Given the description of an element on the screen output the (x, y) to click on. 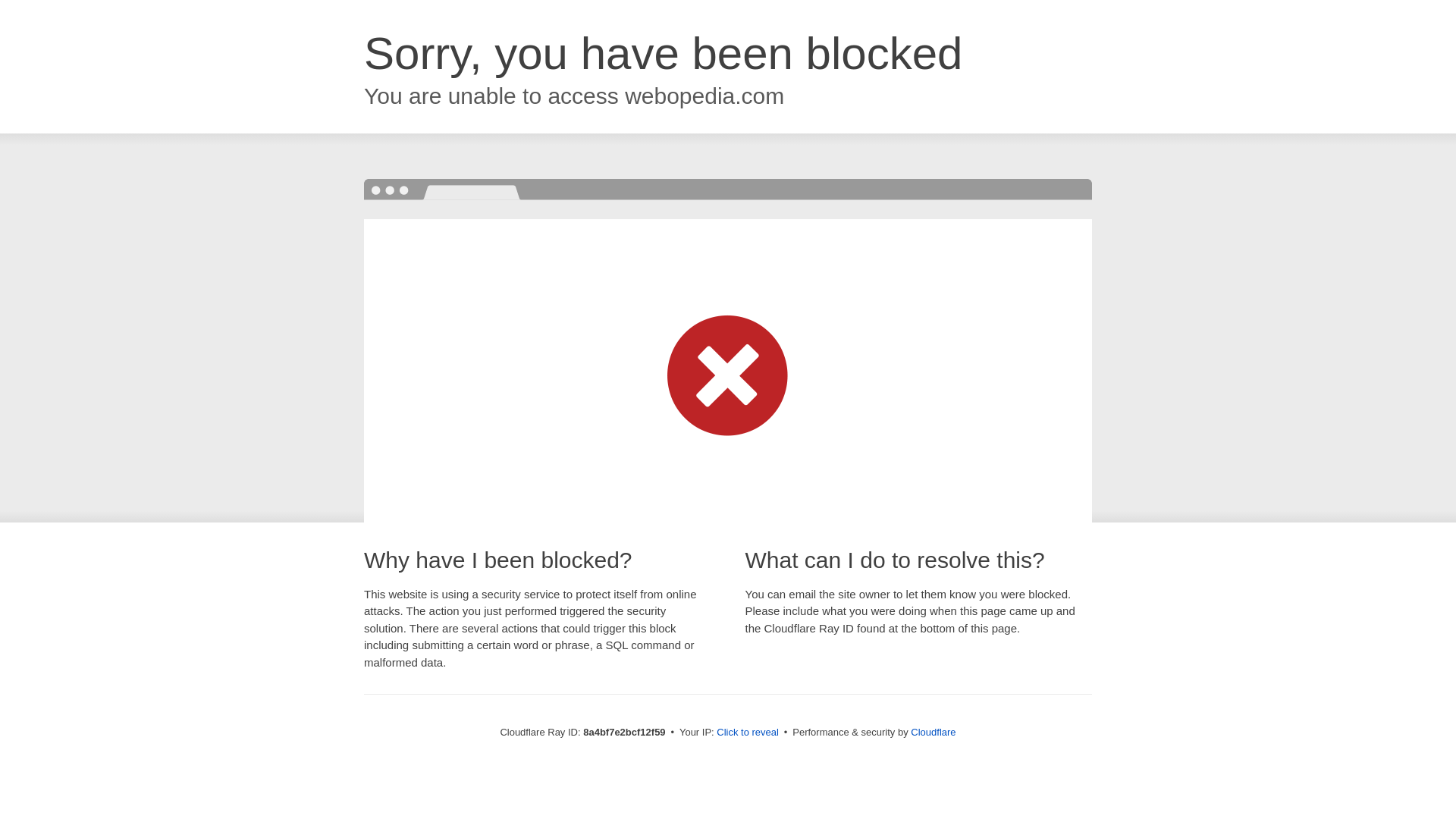
Click to reveal (747, 732)
Cloudflare (933, 731)
